Given the description of an element on the screen output the (x, y) to click on. 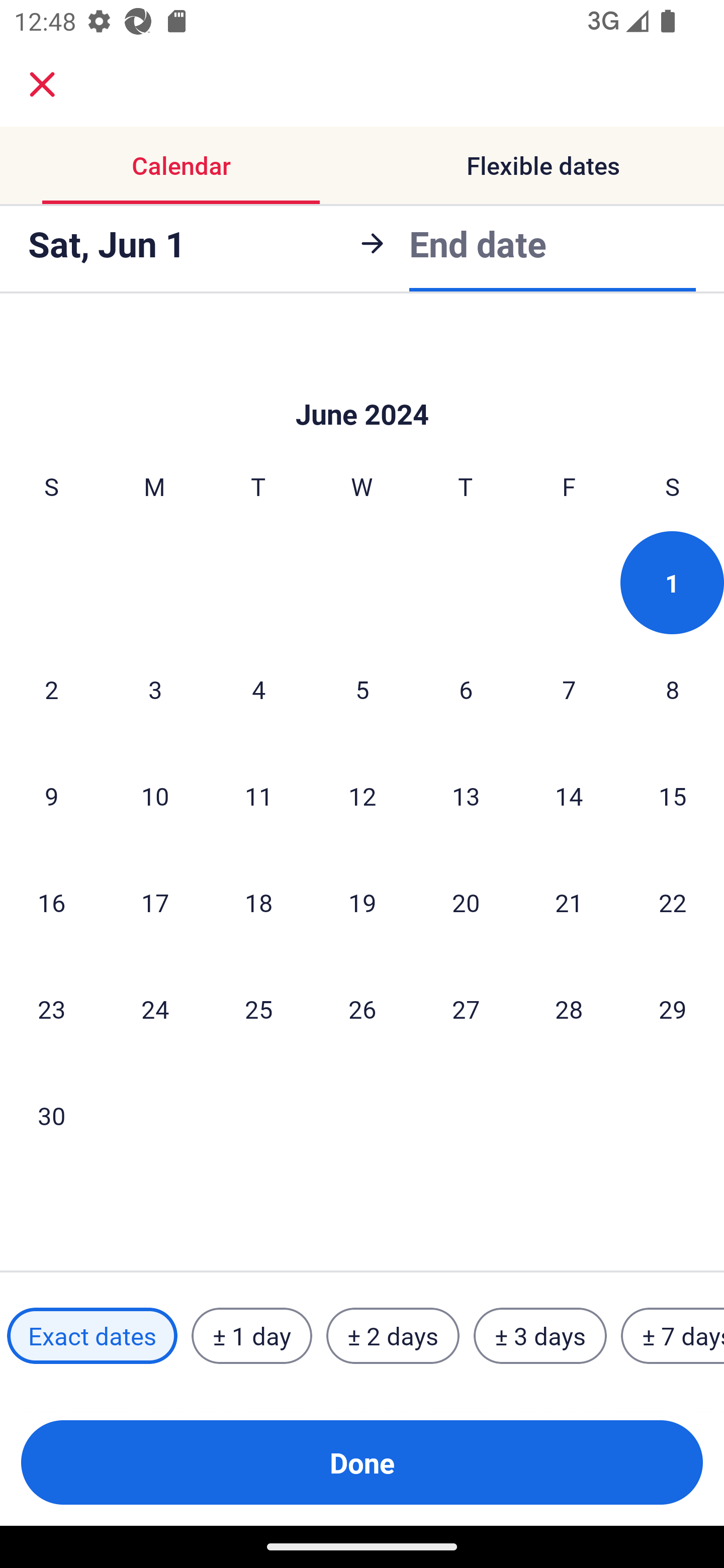
close. (42, 84)
Flexible dates (542, 164)
End date (477, 243)
Skip to Done (362, 383)
2 Sunday, June 2, 2024 (51, 689)
3 Monday, June 3, 2024 (155, 689)
4 Tuesday, June 4, 2024 (258, 689)
5 Wednesday, June 5, 2024 (362, 689)
6 Thursday, June 6, 2024 (465, 689)
7 Friday, June 7, 2024 (569, 689)
8 Saturday, June 8, 2024 (672, 689)
9 Sunday, June 9, 2024 (51, 795)
10 Monday, June 10, 2024 (155, 795)
11 Tuesday, June 11, 2024 (258, 795)
12 Wednesday, June 12, 2024 (362, 795)
13 Thursday, June 13, 2024 (465, 795)
14 Friday, June 14, 2024 (569, 795)
15 Saturday, June 15, 2024 (672, 795)
16 Sunday, June 16, 2024 (51, 902)
17 Monday, June 17, 2024 (155, 902)
18 Tuesday, June 18, 2024 (258, 902)
19 Wednesday, June 19, 2024 (362, 902)
20 Thursday, June 20, 2024 (465, 902)
21 Friday, June 21, 2024 (569, 902)
22 Saturday, June 22, 2024 (672, 902)
23 Sunday, June 23, 2024 (51, 1008)
24 Monday, June 24, 2024 (155, 1008)
25 Tuesday, June 25, 2024 (258, 1008)
26 Wednesday, June 26, 2024 (362, 1008)
27 Thursday, June 27, 2024 (465, 1008)
28 Friday, June 28, 2024 (569, 1008)
29 Saturday, June 29, 2024 (672, 1008)
30 Sunday, June 30, 2024 (51, 1115)
Exact dates (92, 1335)
± 1 day (251, 1335)
± 2 days (392, 1335)
± 3 days (539, 1335)
± 7 days (672, 1335)
Done (361, 1462)
